Given the description of an element on the screen output the (x, y) to click on. 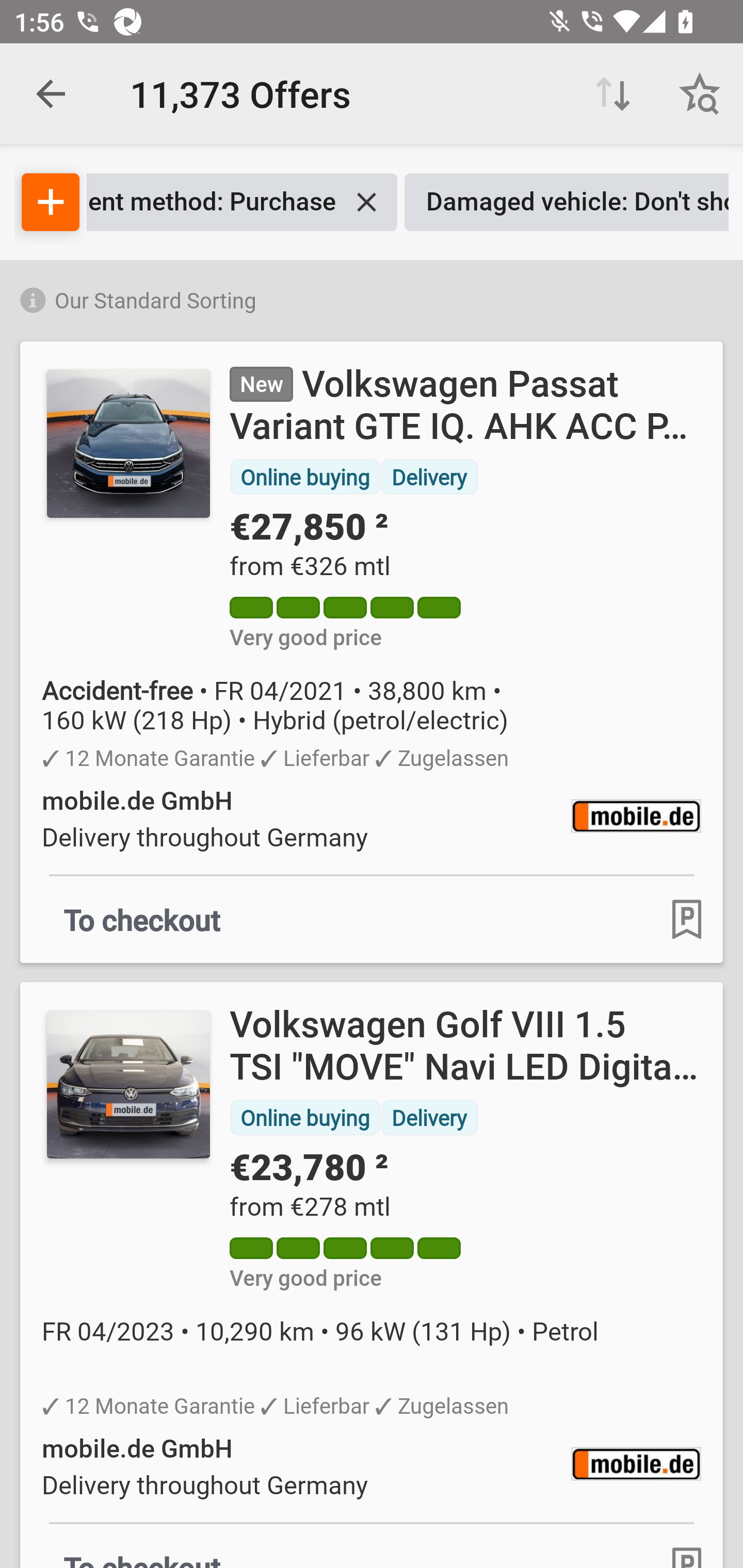
Navigate up (50, 93)
Sort options (612, 93)
Save search (699, 93)
Damaged vehicle: Don't show (566, 202)
Filter (50, 202)
Our Standard Sorting (371, 296)
To checkout (142, 919)
